Given the description of an element on the screen output the (x, y) to click on. 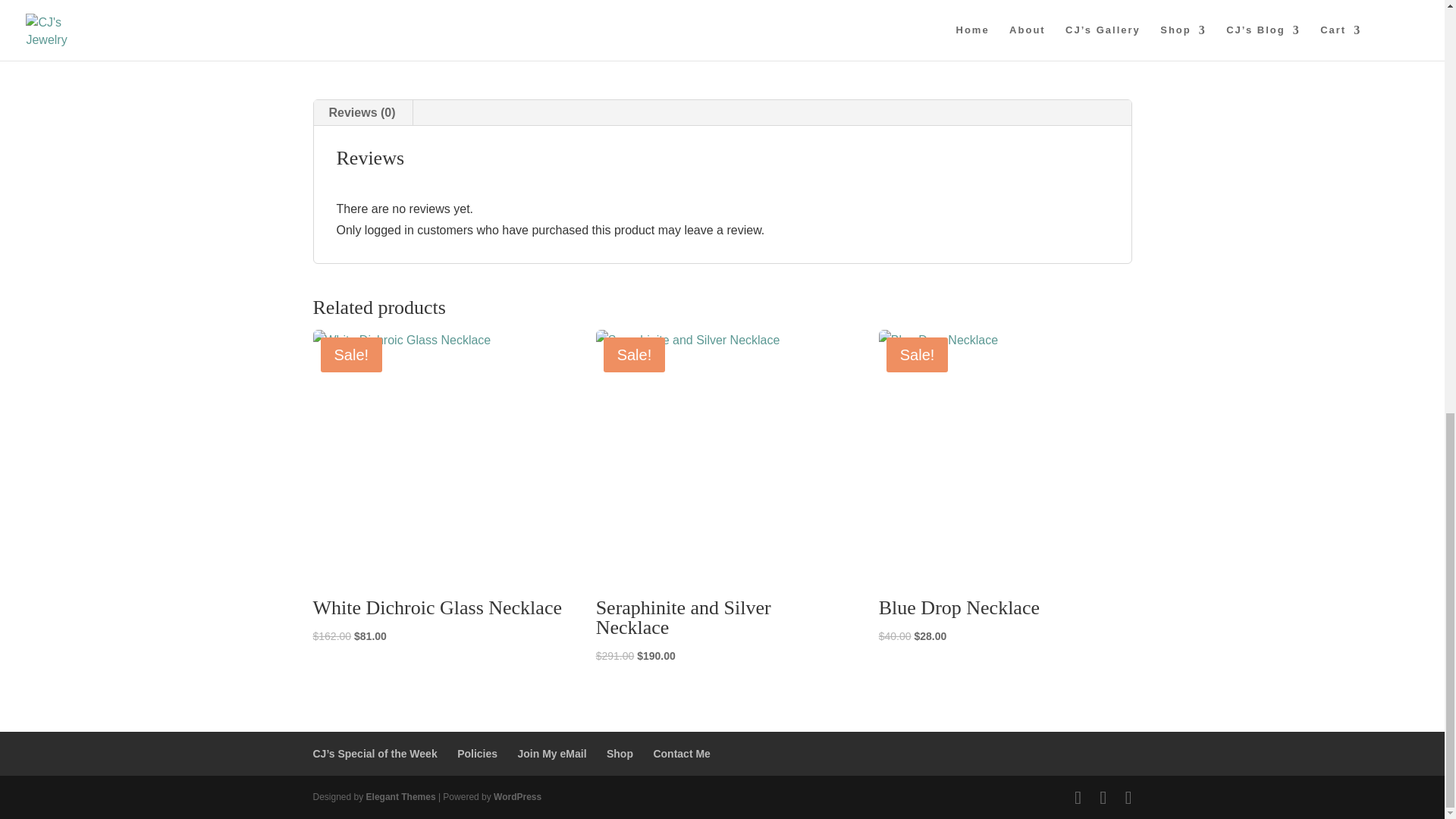
Contact Me (681, 753)
Join My eMail (551, 753)
Add to cart (791, 11)
Elegant Themes (400, 796)
WordPress (517, 796)
Policies (477, 753)
Shop (620, 753)
Premium WordPress Themes (400, 796)
